Given the description of an element on the screen output the (x, y) to click on. 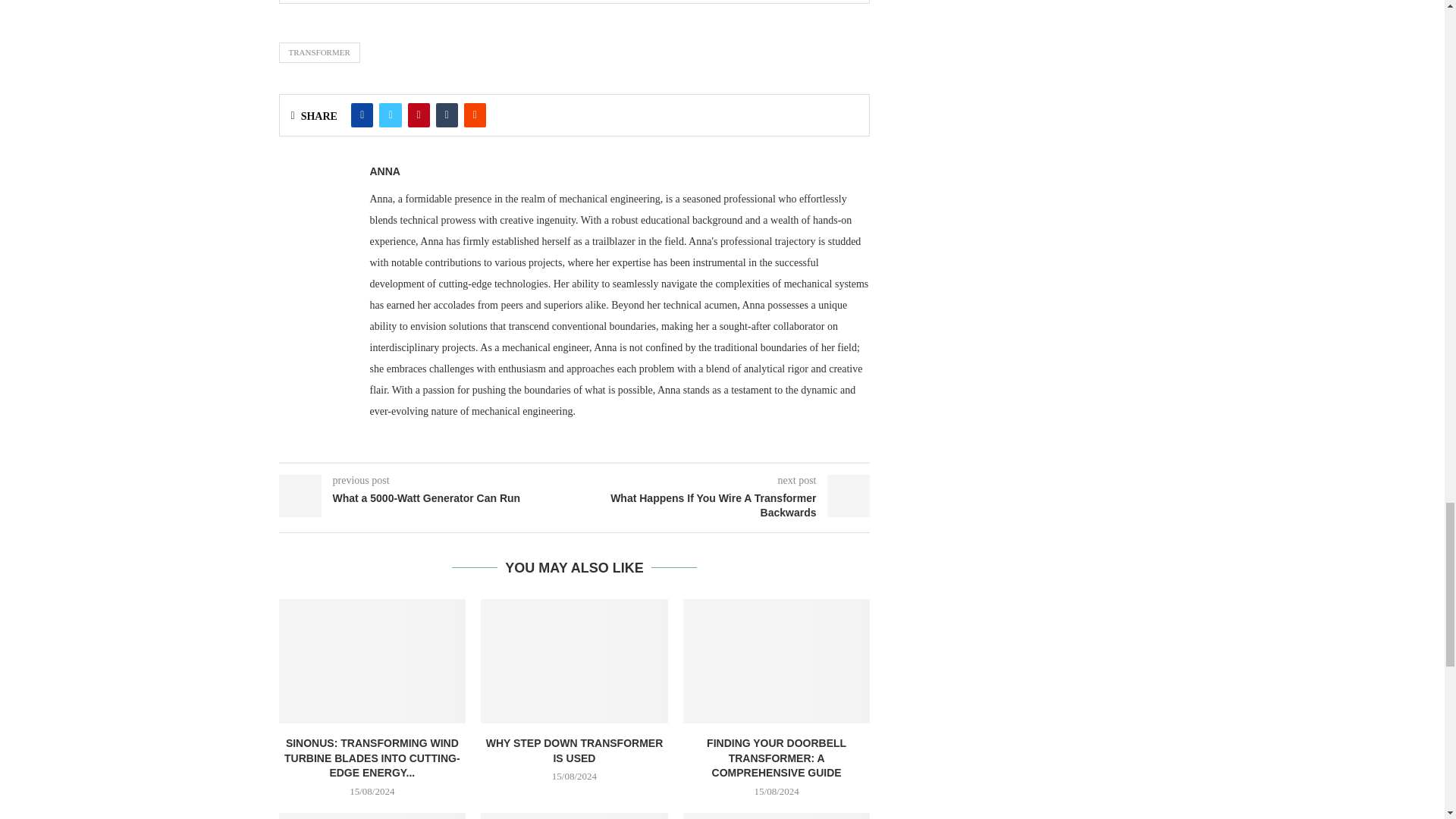
Finding Your Doorbell Transformer: A Comprehensive Guide (776, 660)
What Fire Extinguisher For Live Electrical Equipment (574, 816)
Why Step Down Transformer Is Used (574, 660)
Author Anna (384, 171)
